Given the description of an element on the screen output the (x, y) to click on. 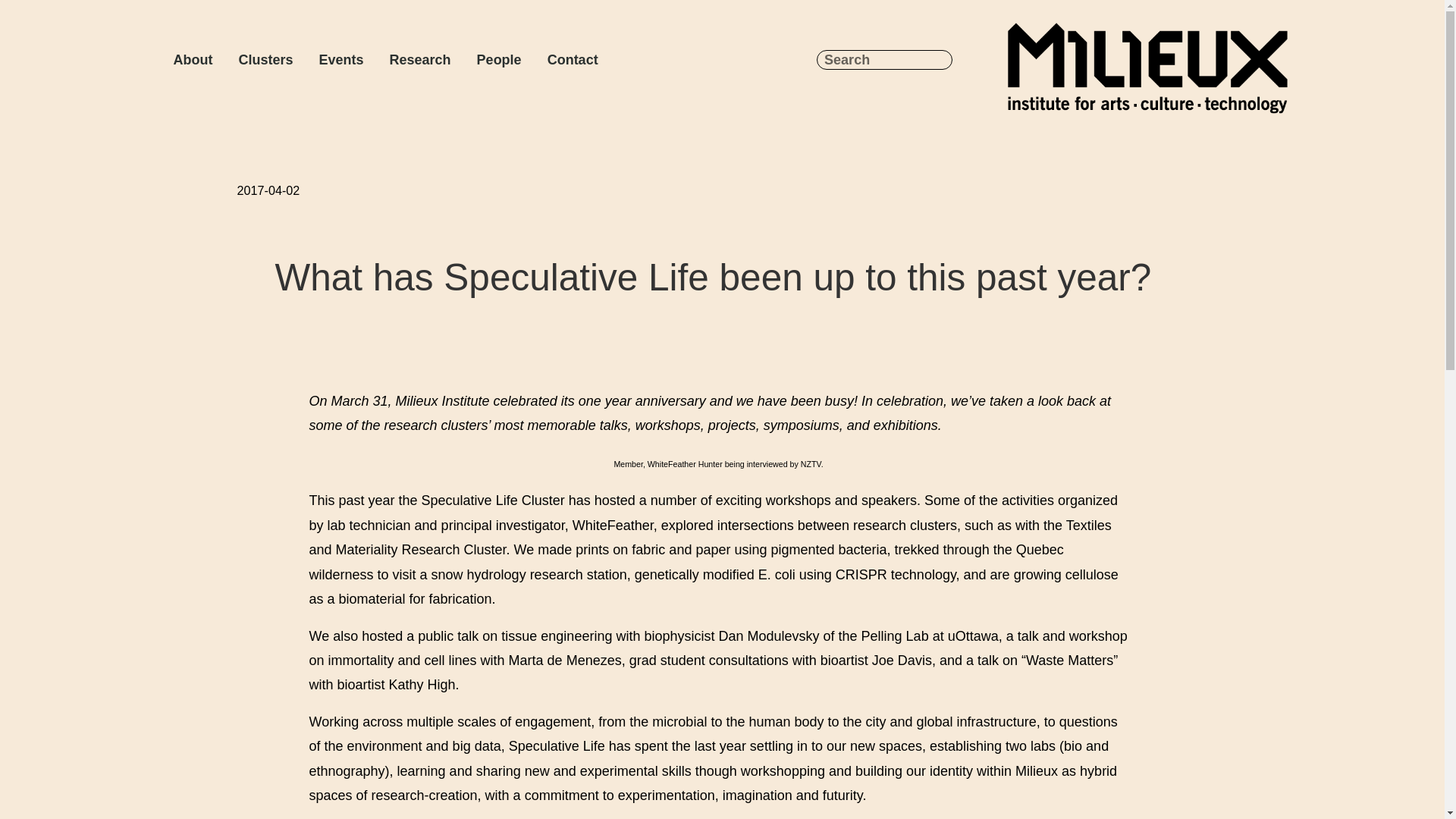
People (499, 59)
Events (341, 59)
Research (420, 59)
About (192, 59)
Contact (572, 59)
Clusters (264, 59)
